Given the description of an element on the screen output the (x, y) to click on. 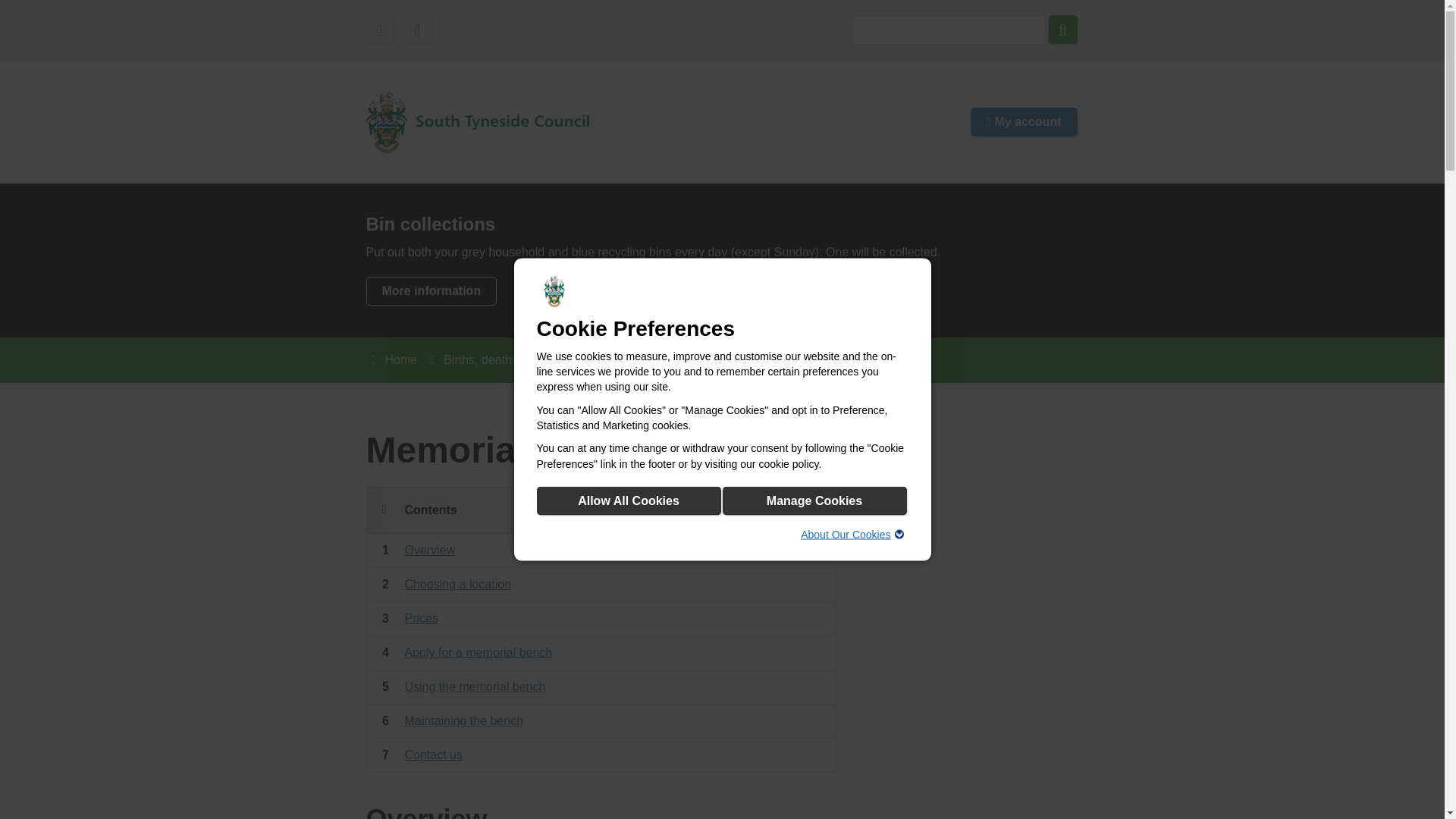
Manage Cookies (813, 500)
Allow All Cookies (628, 500)
Allow All Cookies (628, 500)
Manage Cookies (813, 500)
